Given the description of an element on the screen output the (x, y) to click on. 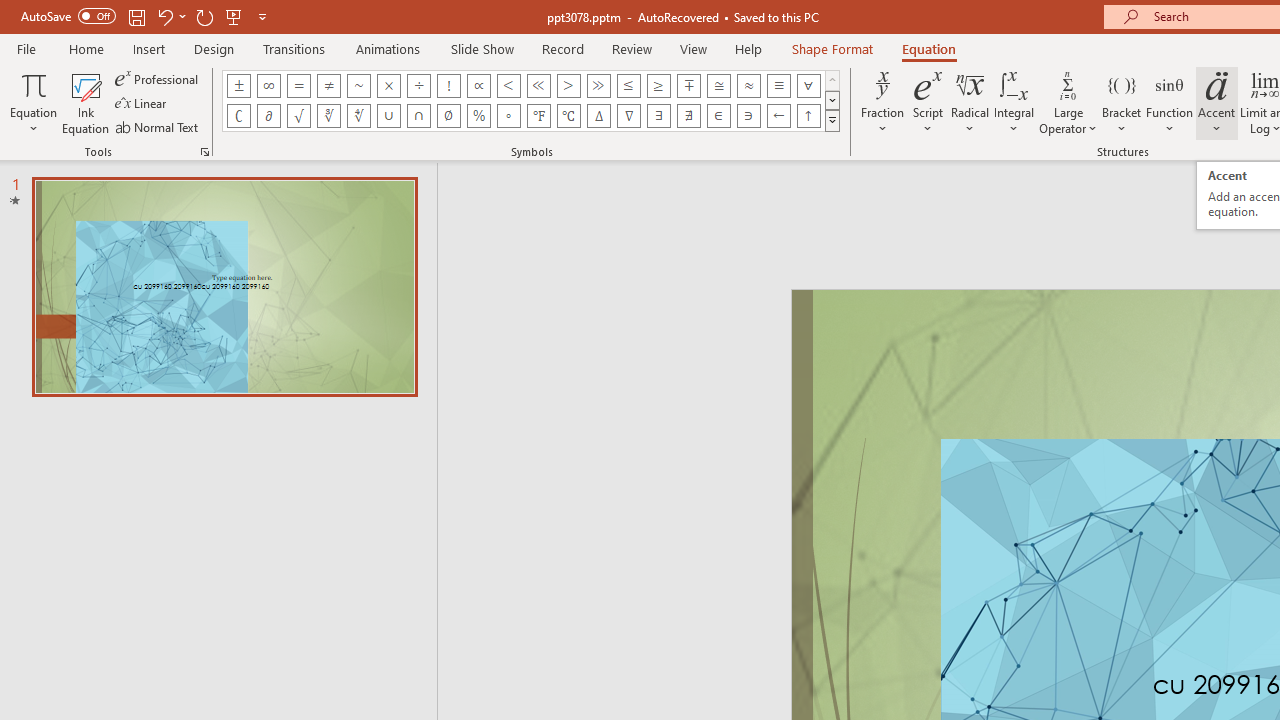
Equation Symbol Less Than (508, 85)
Equation Symbol Fourth Root (358, 115)
Equation Symbol Greater Than or Equal To (658, 85)
Equation Symbol Division Sign (418, 85)
Equation Symbol Element Of (718, 115)
Equation Symbol Degrees Celsius (568, 115)
Normal Text (158, 126)
Equation Symbol Factorial (448, 85)
Accent (1216, 102)
Equation Symbol Equal (298, 85)
